Given the description of an element on the screen output the (x, y) to click on. 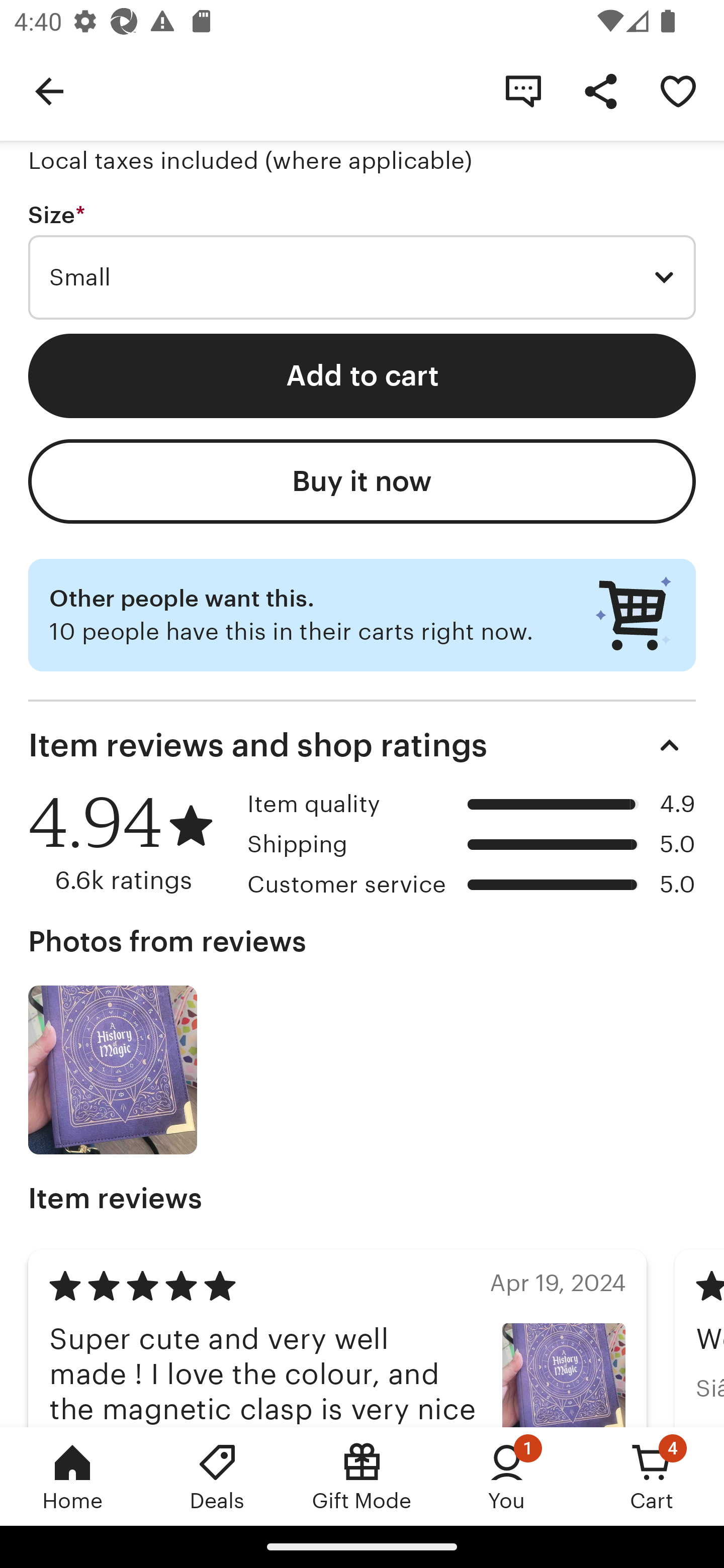
Navigate up (49, 90)
Contact shop (523, 90)
Share (600, 90)
Size * Required Small (361, 260)
Small (361, 277)
Add to cart (361, 375)
Buy it now (361, 481)
Item reviews and shop ratings (362, 744)
4.94 6.6k ratings (130, 842)
Photo from review (112, 1070)
Deals (216, 1475)
Gift Mode (361, 1475)
You, 1 new notification You (506, 1475)
Cart, 4 new notifications Cart (651, 1475)
